Given the description of an element on the screen output the (x, y) to click on. 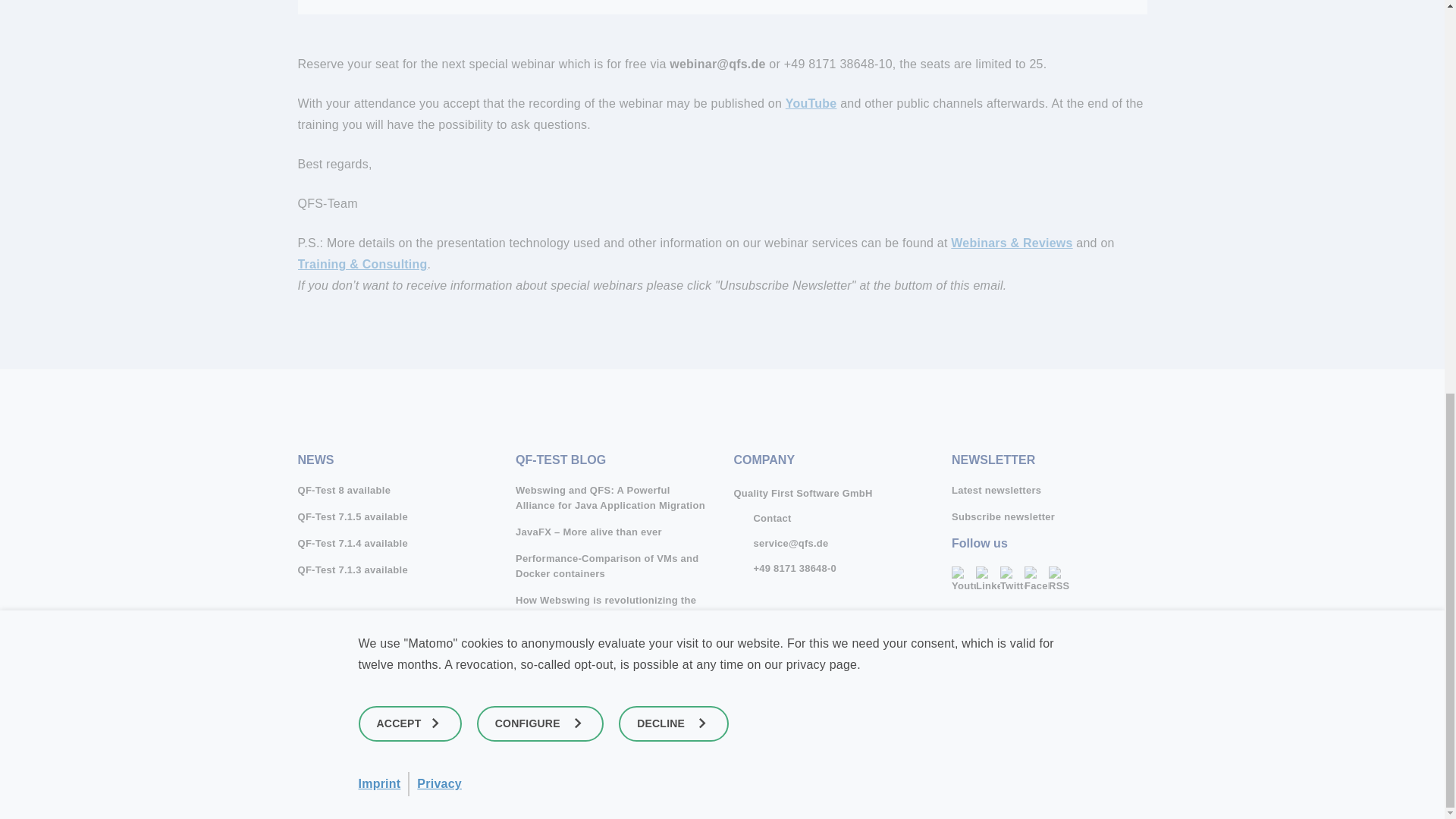
Send email for registration (717, 63)
Performance-Comparison of VMs and Docker containers (612, 566)
QF-Test 7.1.5 available (394, 516)
Latest newsletters (1049, 490)
Performance-Comparison of VMs and Docker containers (612, 566)
Contact (761, 518)
QF-Test 7.1.5 available (394, 516)
QF-Test 7.1.3 available (394, 570)
Sitemap (1049, 676)
